Given the description of an element on the screen output the (x, y) to click on. 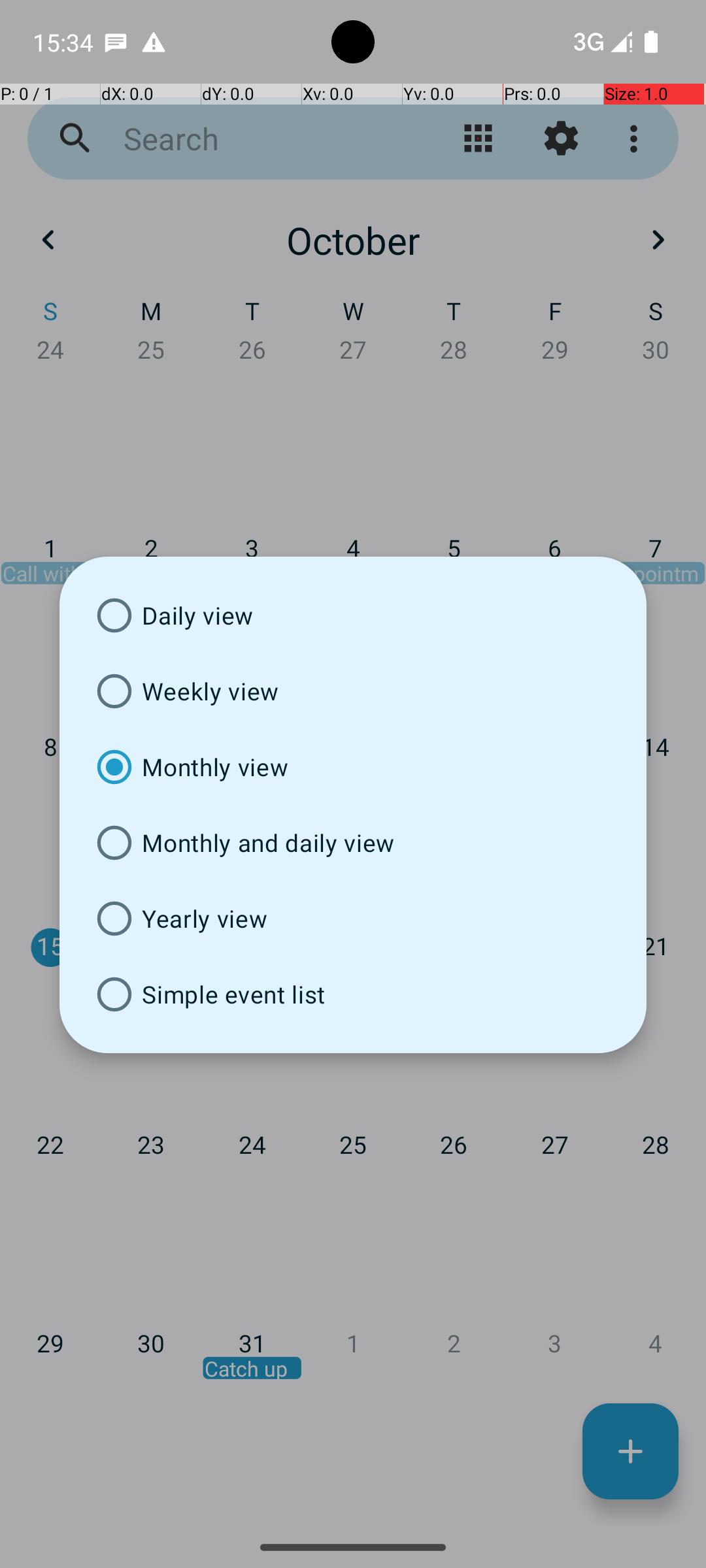
Daily view Element type: android.widget.RadioButton (352, 615)
Weekly view Element type: android.widget.RadioButton (352, 691)
Monthly view Element type: android.widget.RadioButton (352, 766)
Monthly and daily view Element type: android.widget.RadioButton (352, 842)
Yearly view Element type: android.widget.RadioButton (352, 918)
Simple event list Element type: android.widget.RadioButton (352, 994)
